Given the description of an element on the screen output the (x, y) to click on. 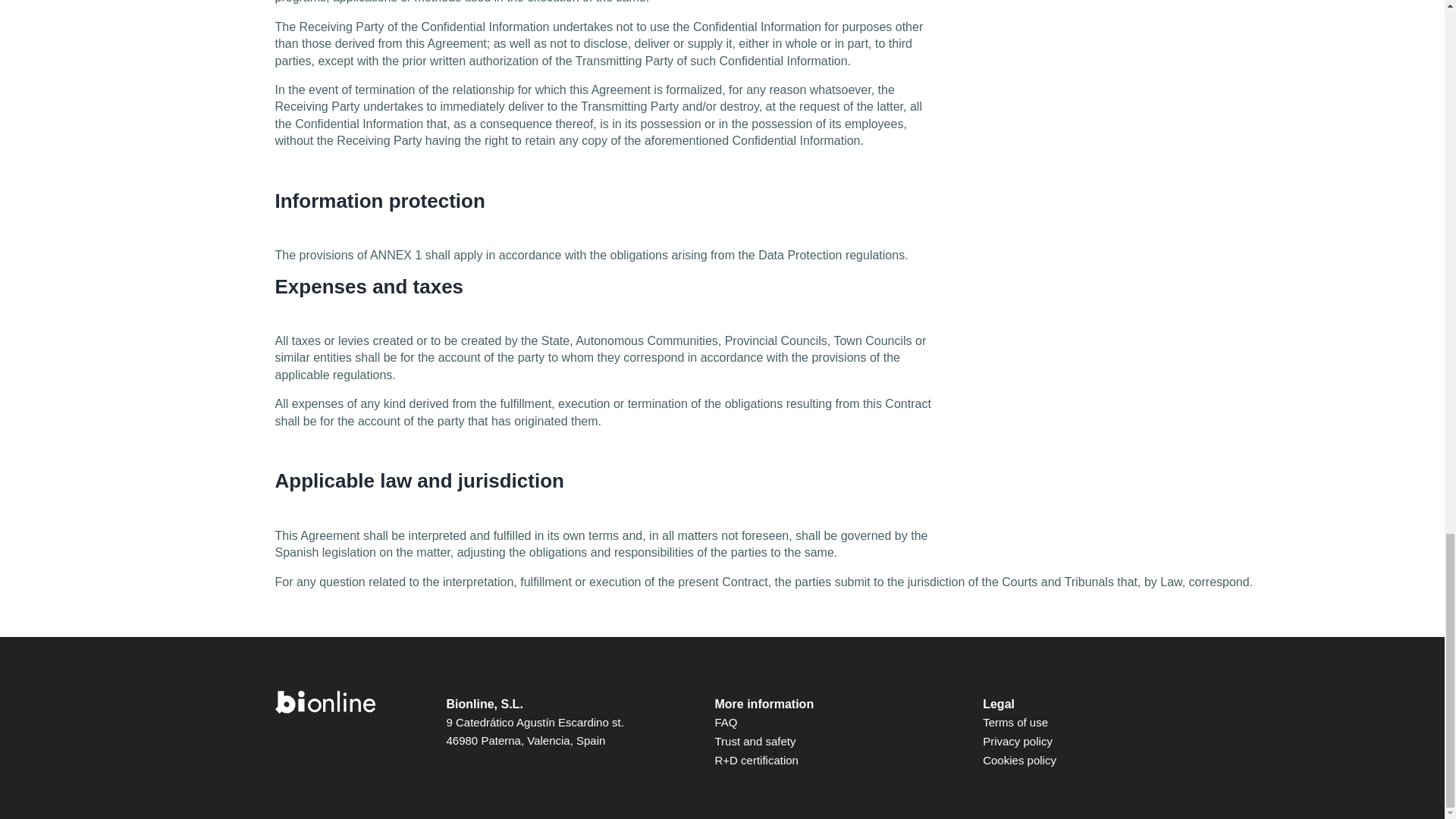
FAQ (725, 721)
Trust and safety (754, 740)
Terms of use (1015, 721)
Privacy policy (1017, 740)
Cookies policy (1019, 759)
